Given the description of an element on the screen output the (x, y) to click on. 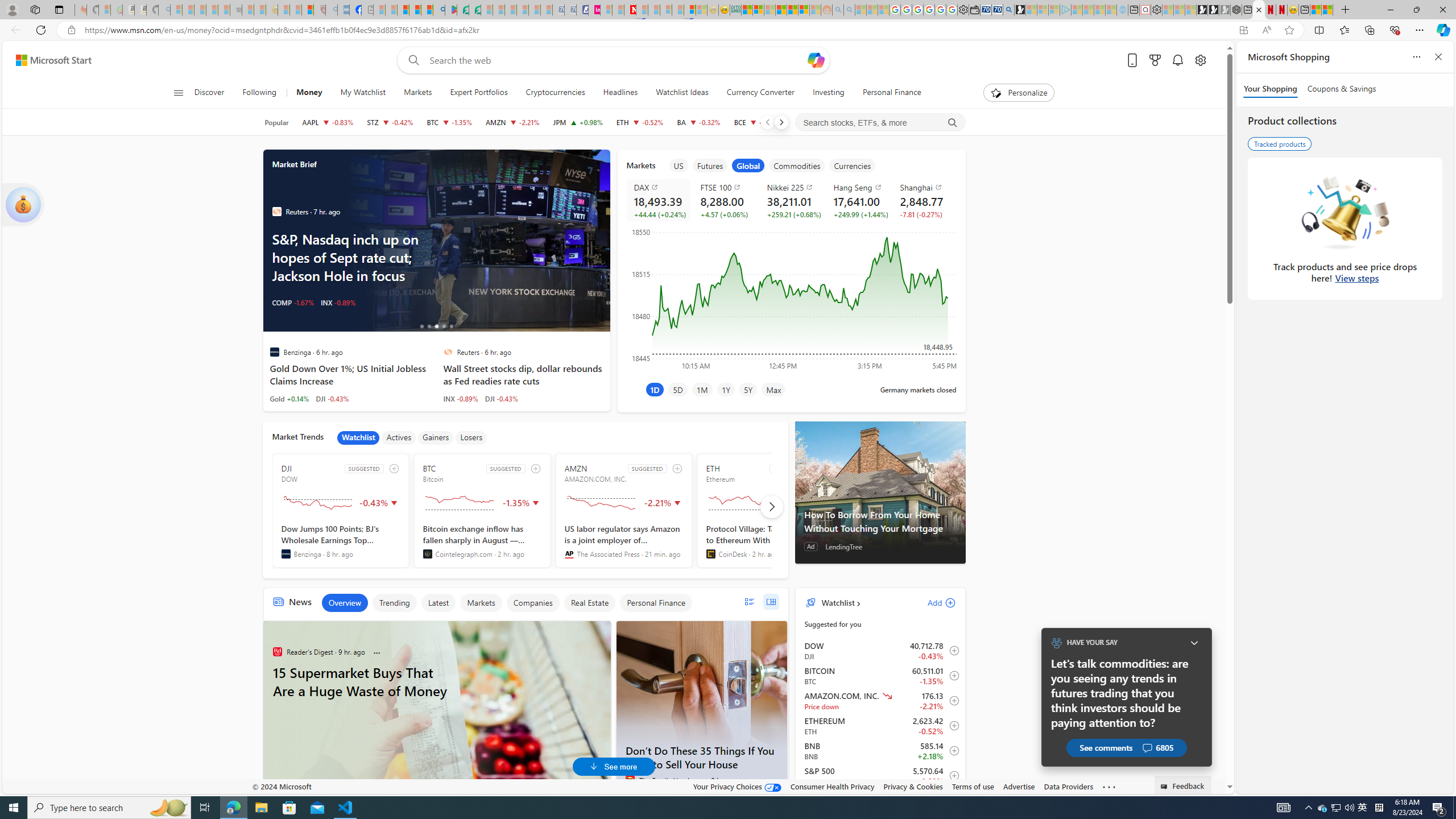
See more (1108, 787)
ETH Ethereum decrease 2,623.42 -13.69 -0.52% item3 (880, 725)
Markets (417, 92)
BTC Bitcoin decrease 60,511.01 -814.48 -1.35% item1 (880, 675)
Terms of Use Agreement (462, 9)
Currency Converter (760, 92)
Popular (276, 121)
Consumer Health Privacy (832, 786)
Class: recharts-surface (791, 298)
Personal Finance (887, 92)
list of asthma inhalers uk - Search - Sleeping (331, 9)
